Given the description of an element on the screen output the (x, y) to click on. 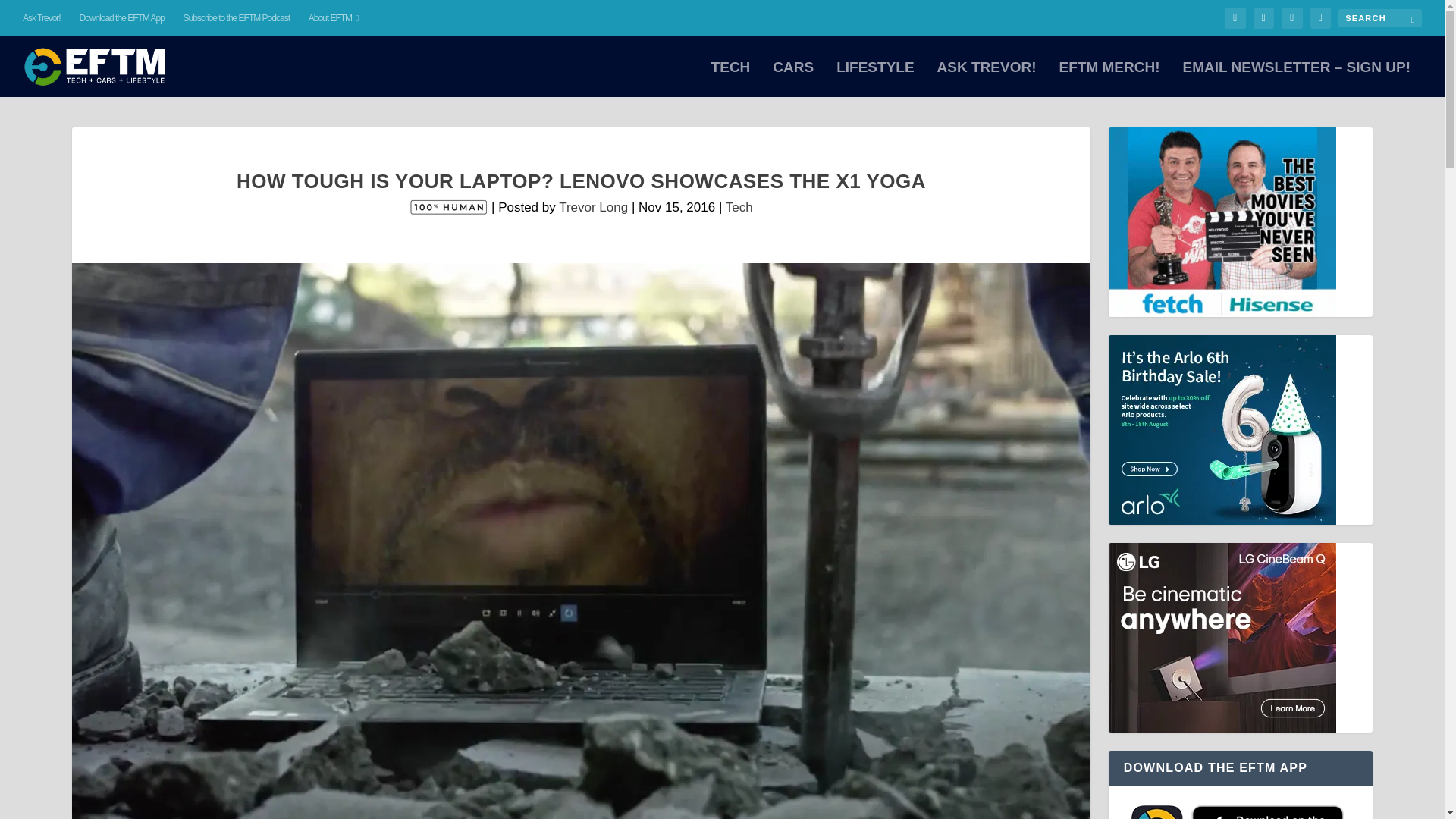
Ask Trevor! (42, 18)
EFTM MERCH! (1108, 79)
Subscribe to the EFTM Podcast (236, 18)
ASK TREVOR! (986, 79)
TECH (731, 79)
Search for: (1380, 18)
Download the EFTM App (120, 18)
Posts by Trevor Long (593, 206)
LIFESTYLE (874, 79)
CARS (793, 79)
